Given the description of an element on the screen output the (x, y) to click on. 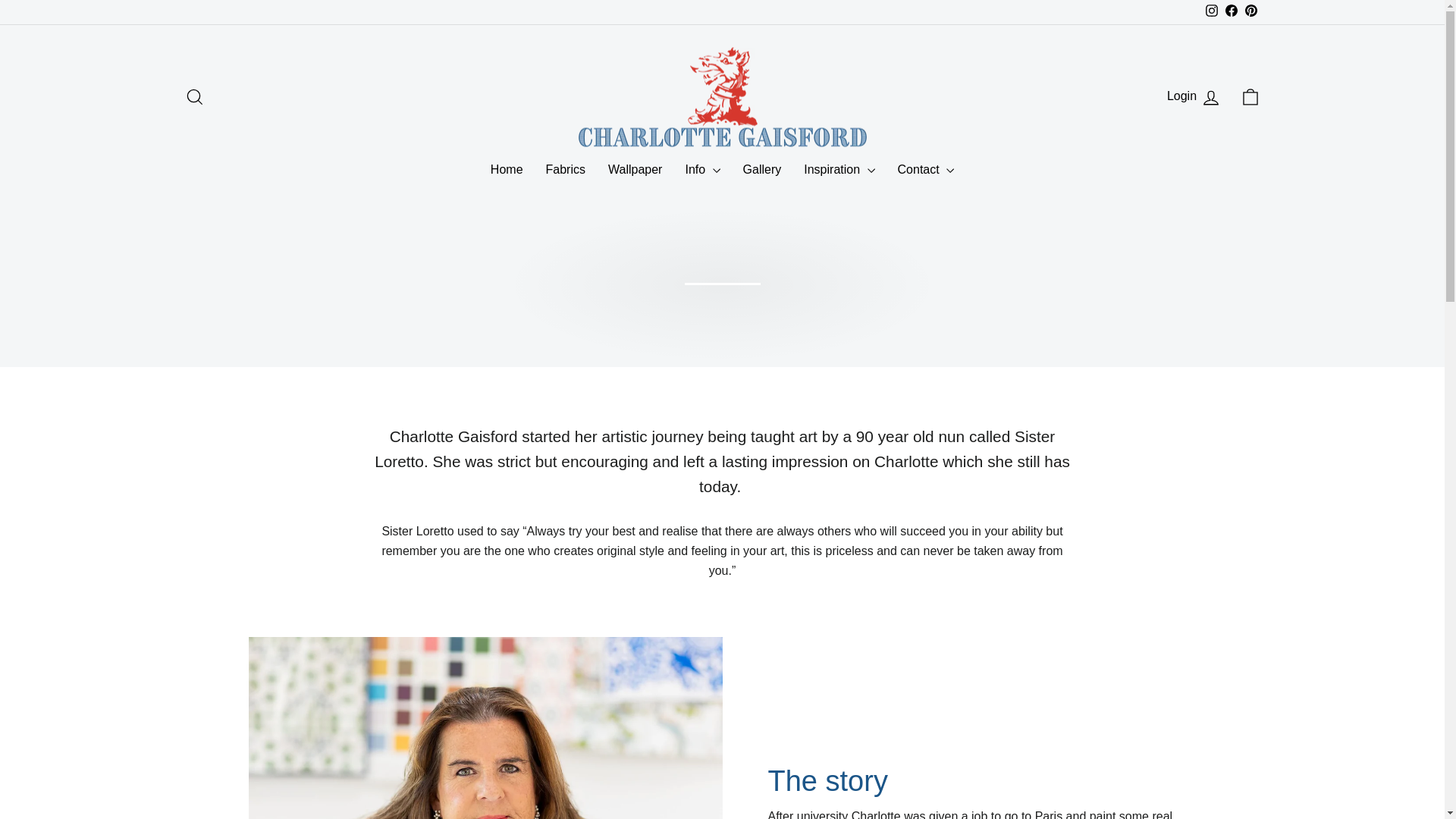
instagram (1211, 10)
icon-bag-minimal (1193, 97)
icon-search (194, 97)
account (1249, 96)
